Given the description of an element on the screen output the (x, y) to click on. 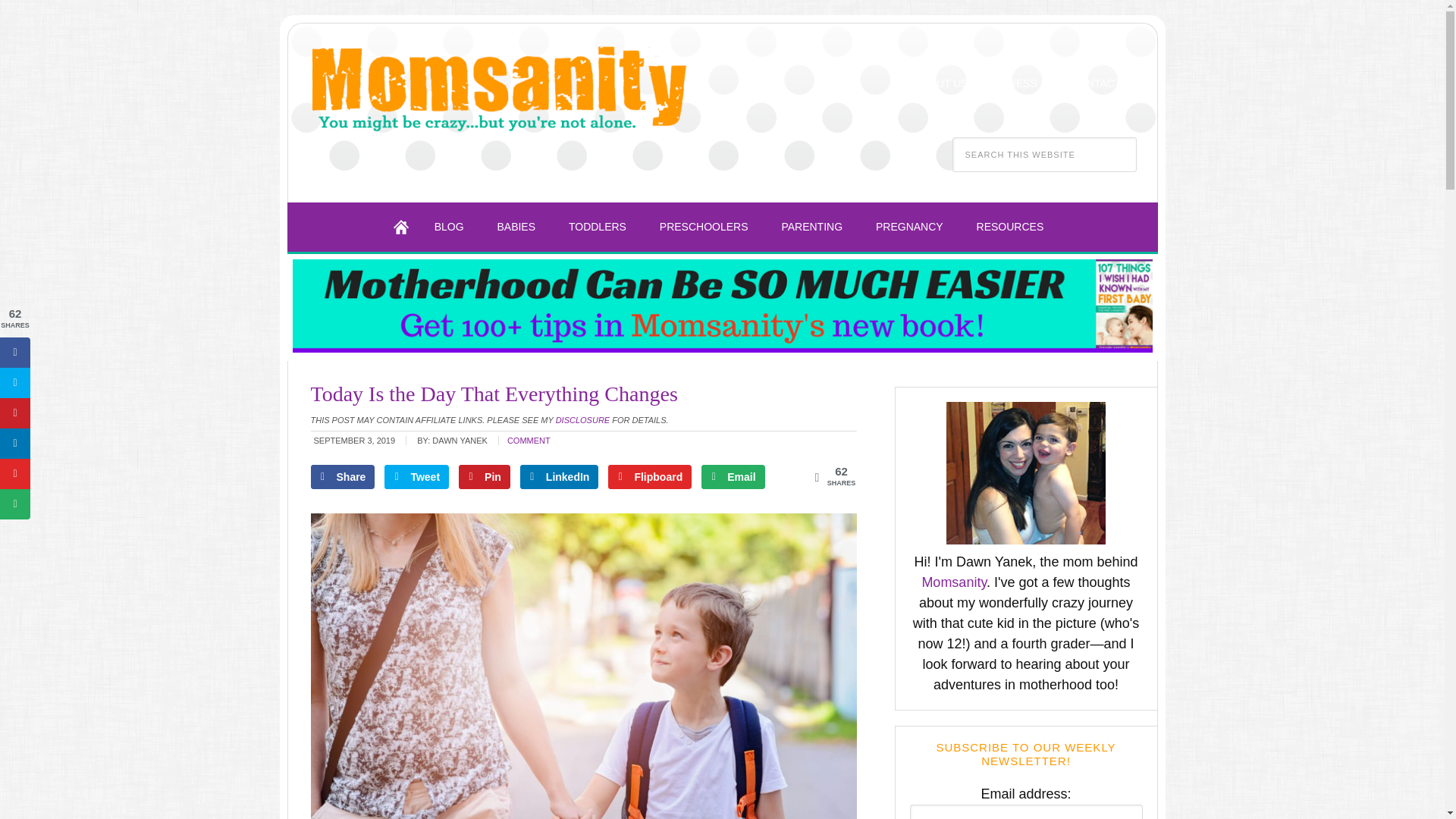
RESOURCES (1009, 226)
ABOUT US (940, 83)
Email (732, 476)
LinkedIn (558, 476)
CONTACT (1096, 83)
PARENTING (811, 226)
PREGNANCY (909, 226)
PRESCHOOLERS (703, 226)
